Given the description of an element on the screen output the (x, y) to click on. 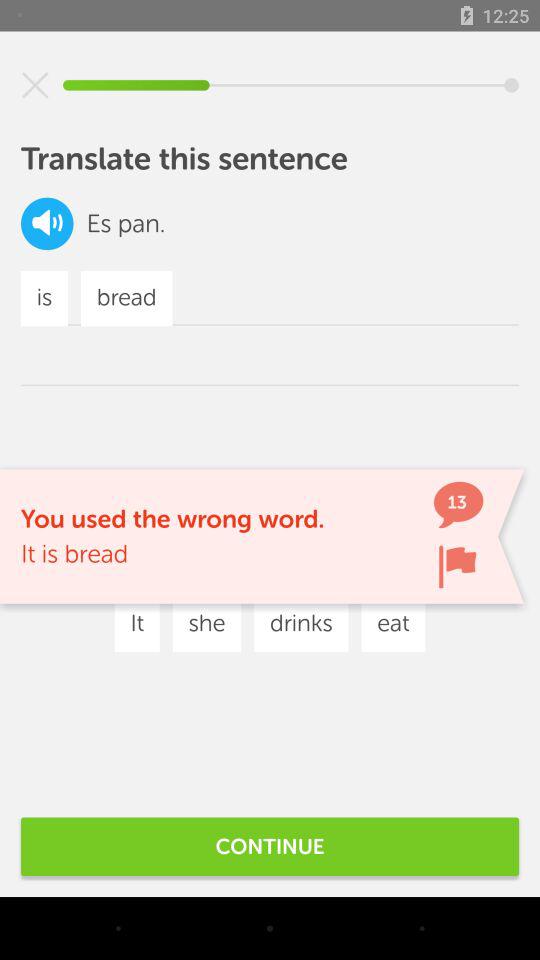
turn off the eat icon (393, 624)
